Given the description of an element on the screen output the (x, y) to click on. 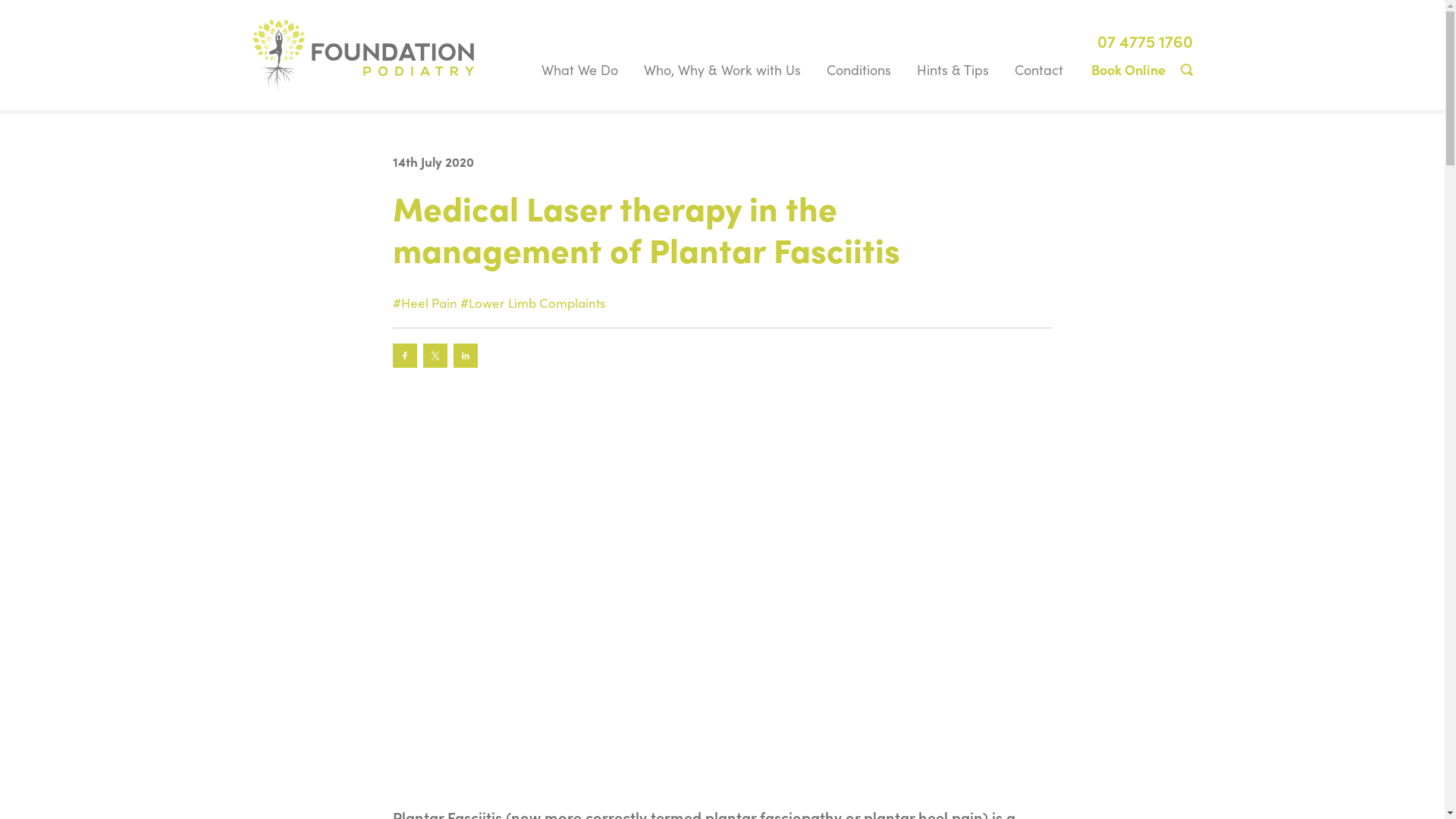
Book Online Element type: text (1127, 68)
Conditions Element type: text (857, 68)
07 4775 1760 Element type: text (1144, 40)
What We Do Element type: text (578, 68)
#Lower Limb Complaints Element type: text (531, 302)
Contact Element type: text (1038, 68)
Group 107 Element type: text (362, 56)
Hints & Tips Element type: text (952, 68)
Who, Why & Work with Us Element type: text (721, 68)
#Heel Pain Element type: text (424, 302)
